Given the description of an element on the screen output the (x, y) to click on. 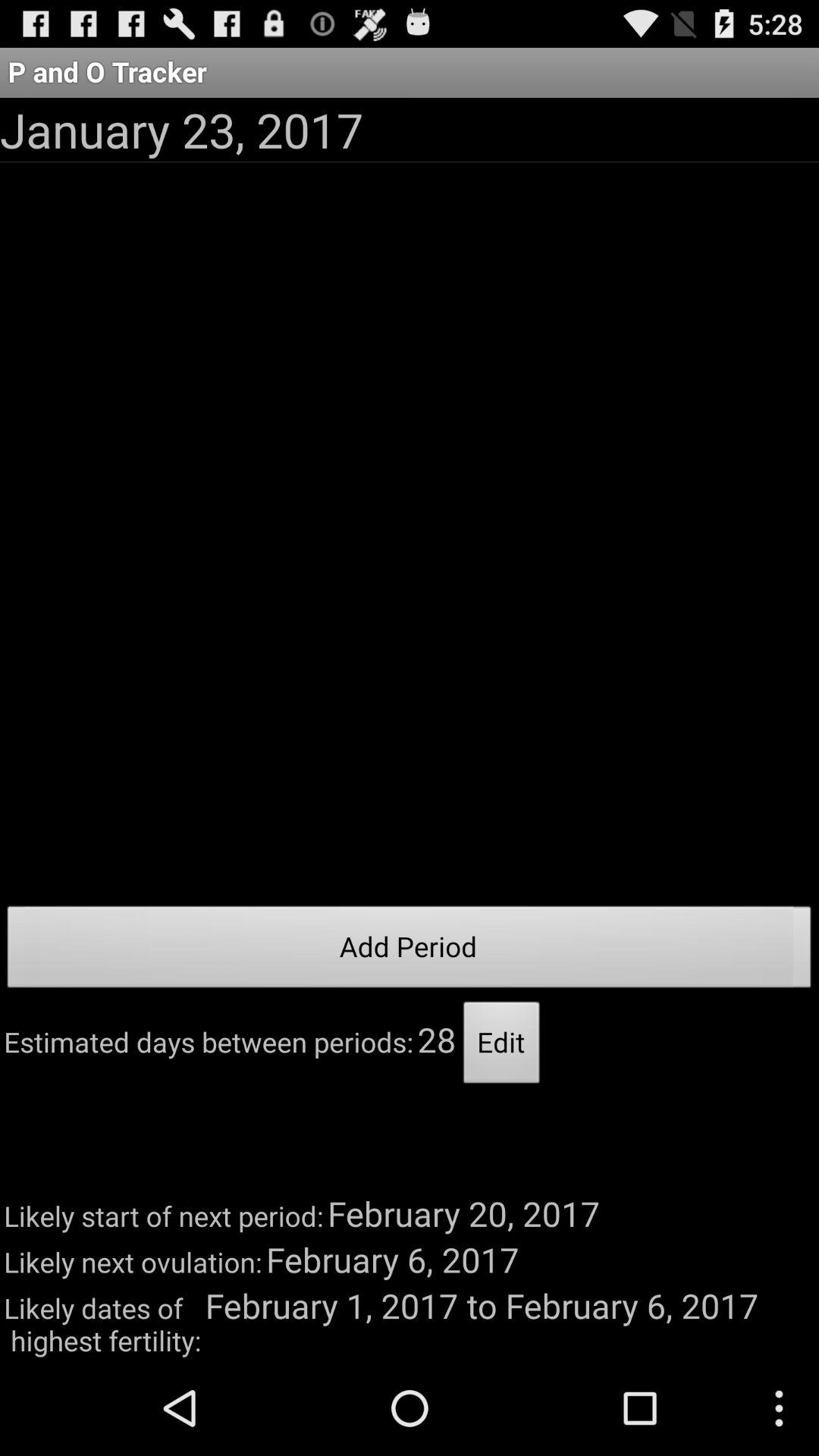
choose item next to the 28 item (501, 1046)
